Given the description of an element on the screen output the (x, y) to click on. 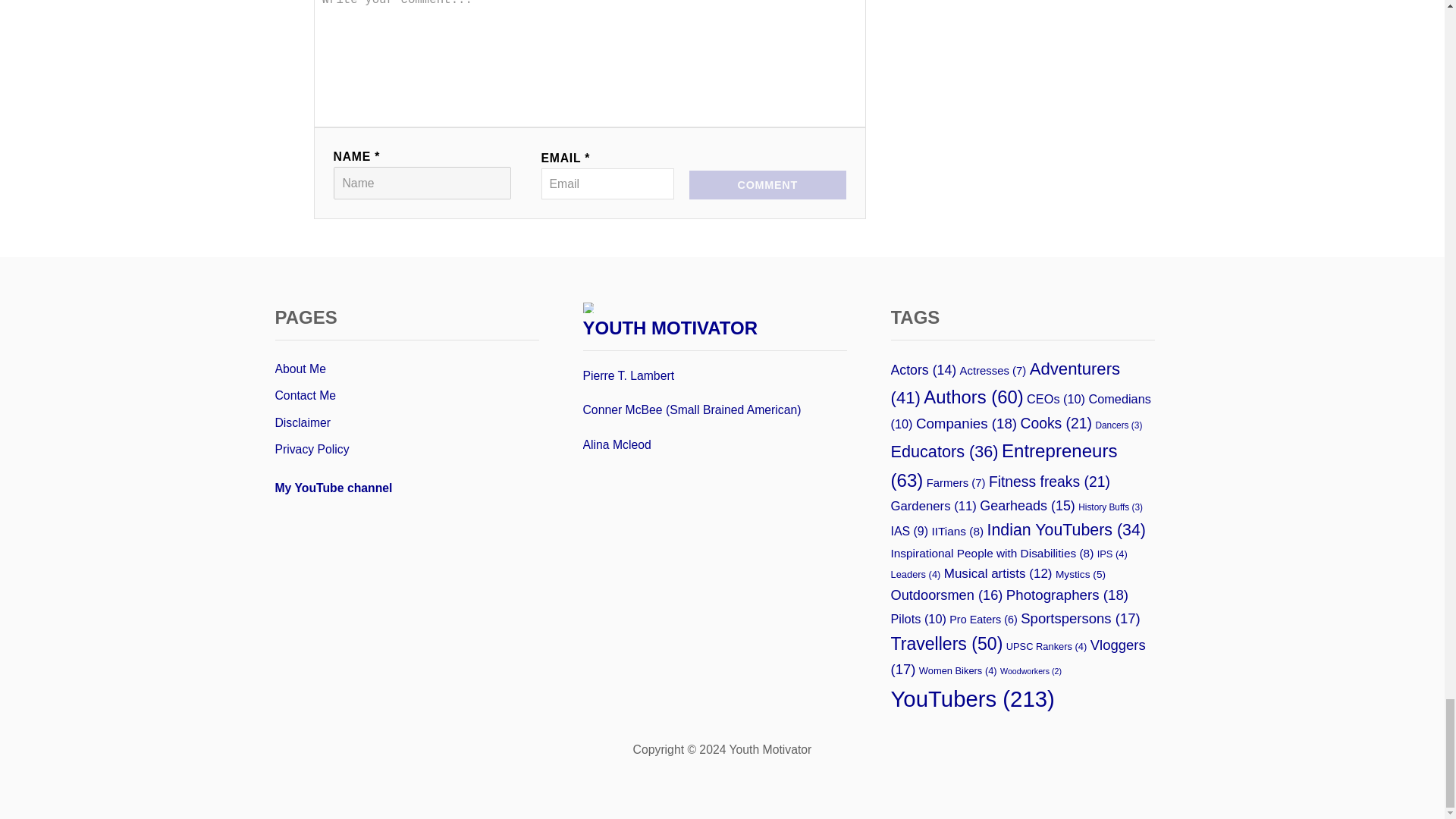
Disclaimer (406, 422)
Contact Me (406, 395)
About Me (406, 369)
Privacy Policy (406, 449)
COMMENT (766, 184)
